Given the description of an element on the screen output the (x, y) to click on. 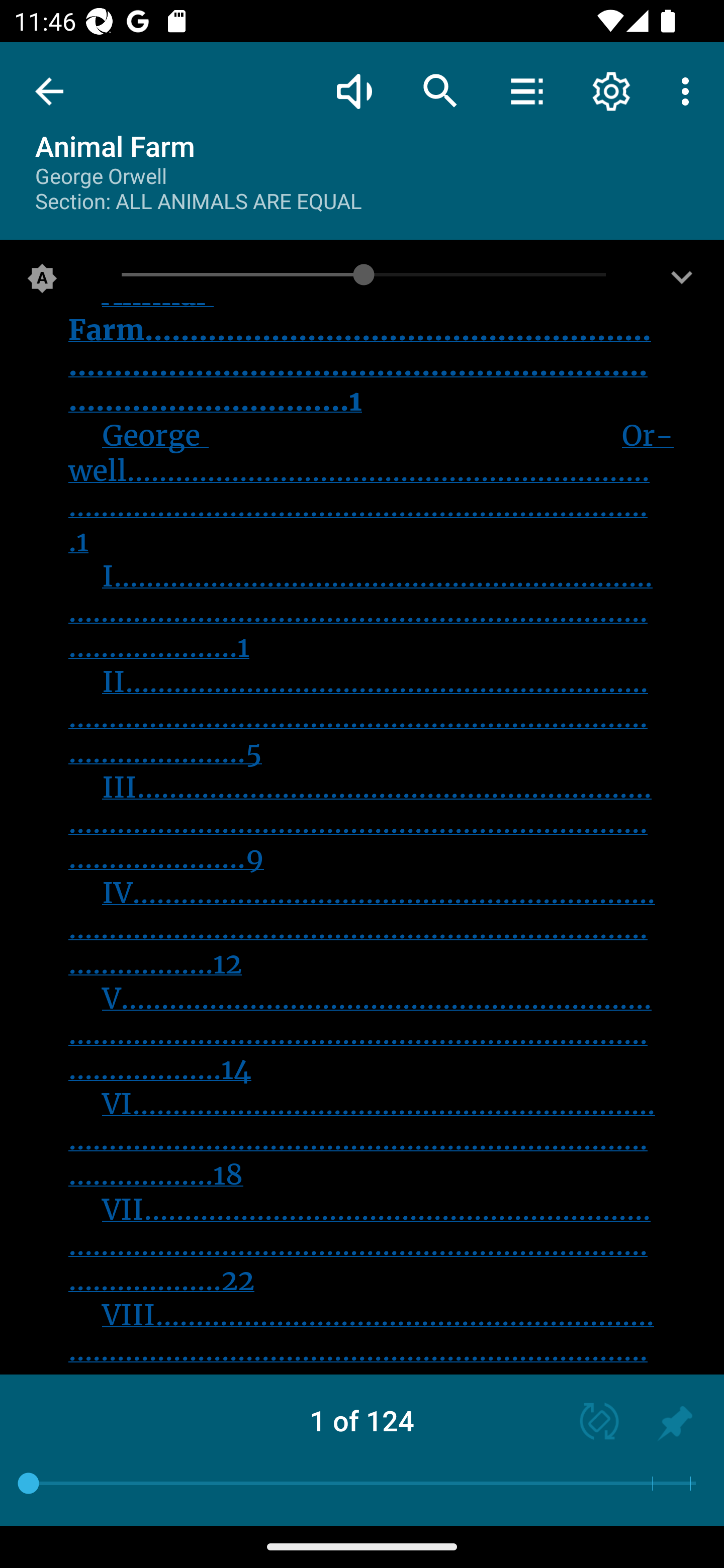
Exit reading (49, 91)
Read aloud (354, 90)
Text search (440, 90)
Contents / Bookmarks / Quotes (526, 90)
Reading settings (611, 90)
More options (688, 90)
Selected screen brightness (42, 281)
Screen brightness settings (681, 281)
1 of 124 (361, 1420)
Screen orientation (590, 1423)
Add to history (674, 1423)
